Given the description of an element on the screen output the (x, y) to click on. 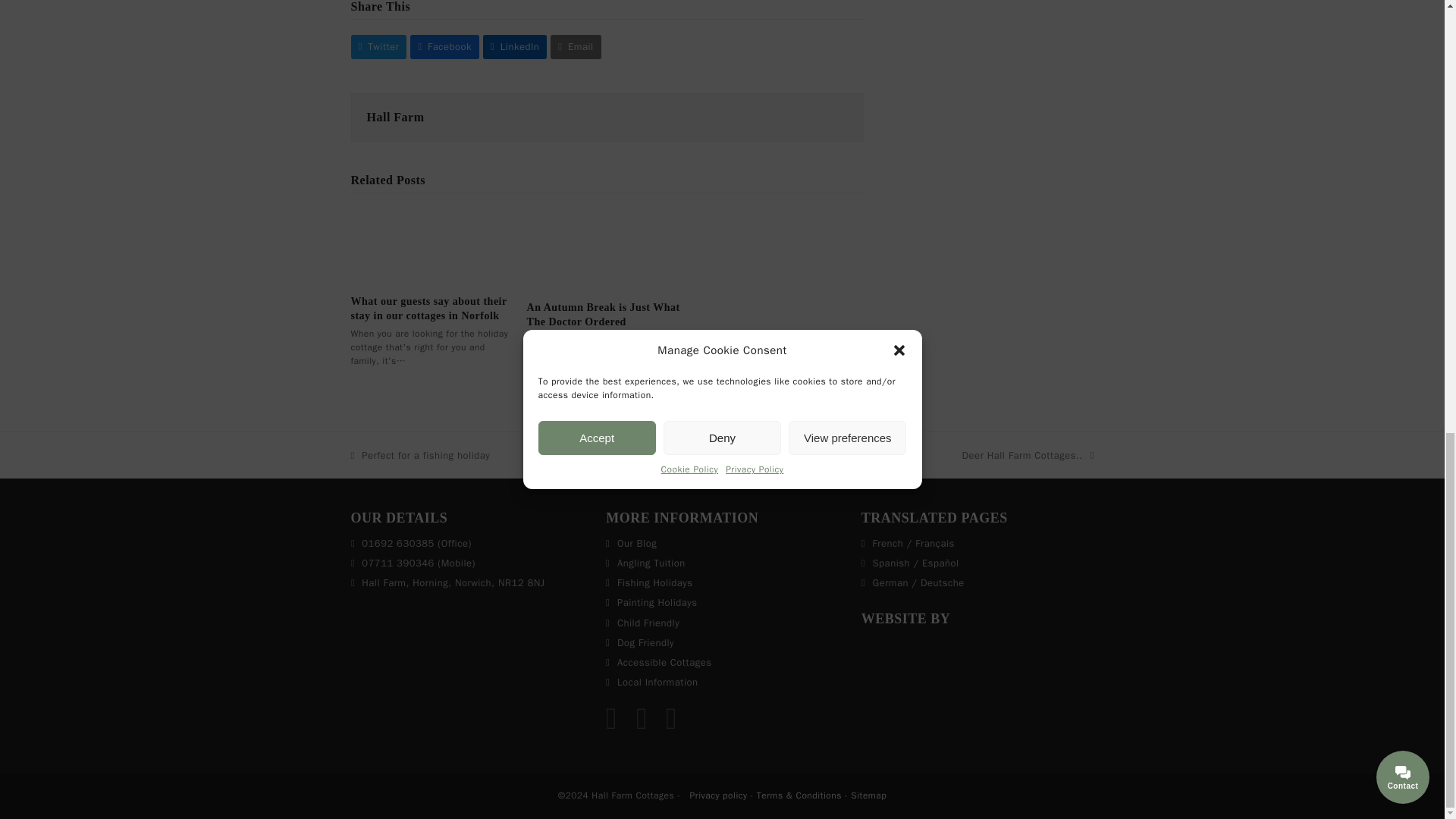
An Autumn Break is Just What The Doctor Ordered (607, 246)
